Given the description of an element on the screen output the (x, y) to click on. 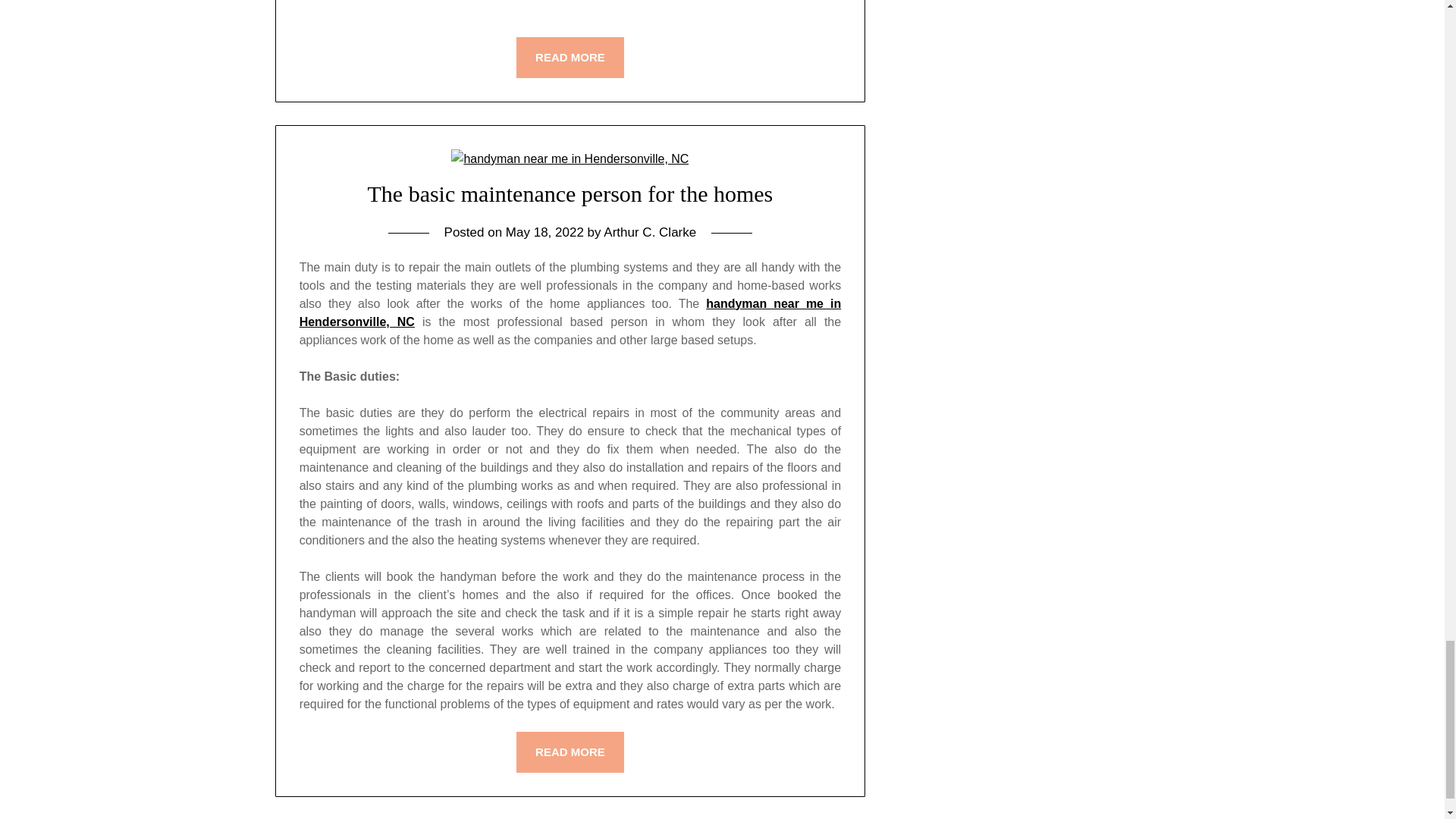
May 18, 2022 (544, 232)
handyman near me in Hendersonville, NC (570, 312)
READ MORE (570, 752)
READ MORE (570, 56)
The basic maintenance person for the homes (569, 193)
Arthur C. Clarke (649, 232)
